Given the description of an element on the screen output the (x, y) to click on. 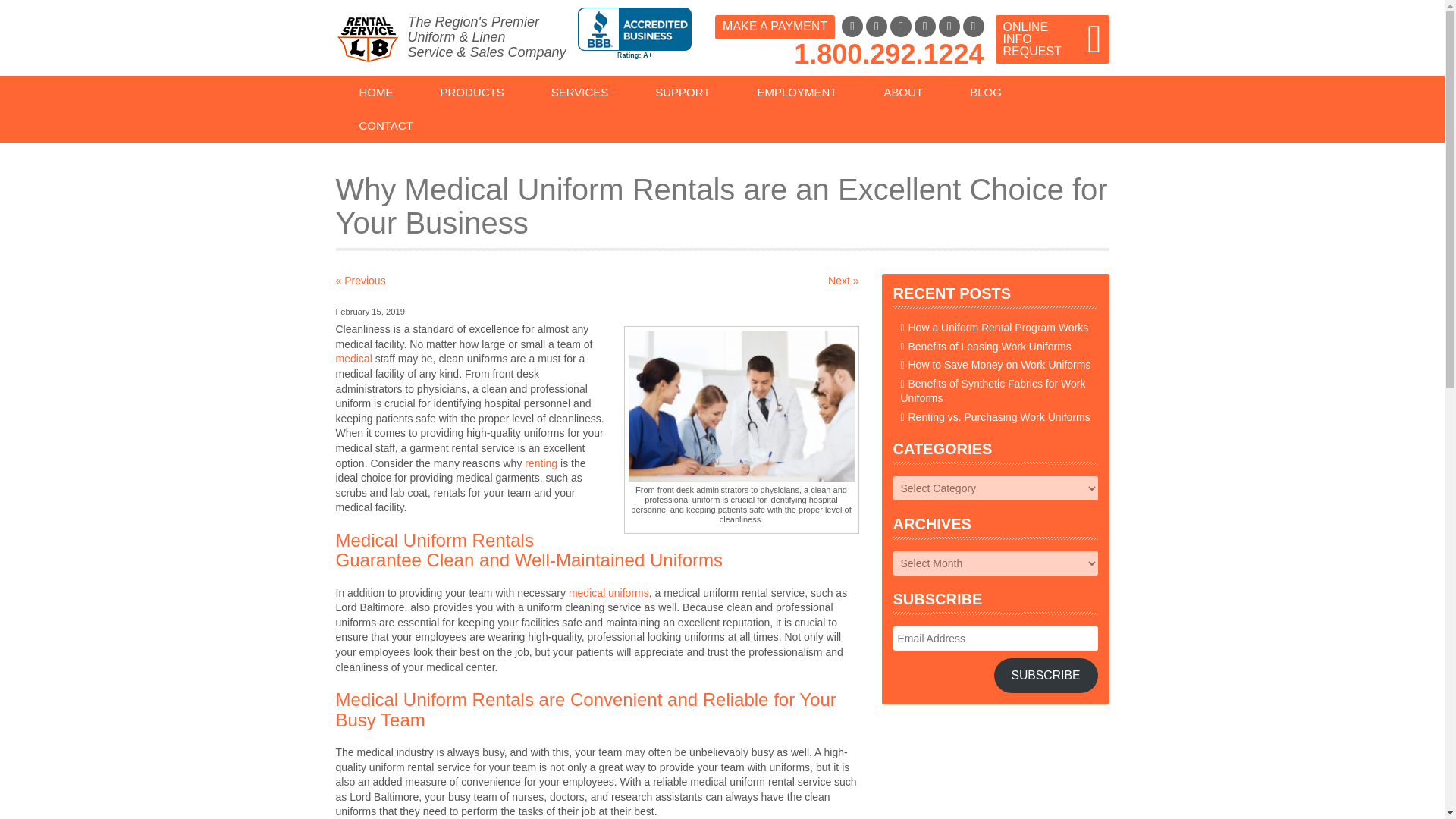
HOME (375, 92)
EMPLOYMENT (796, 92)
1.800.292.1224 (888, 53)
PRODUCTS (471, 92)
ABOUT (903, 92)
MAKE A PAYMENT (774, 27)
ONLINE INFO REQUEST (1051, 39)
SERVICES (579, 92)
SUPPORT (682, 92)
